Given the description of an element on the screen output the (x, y) to click on. 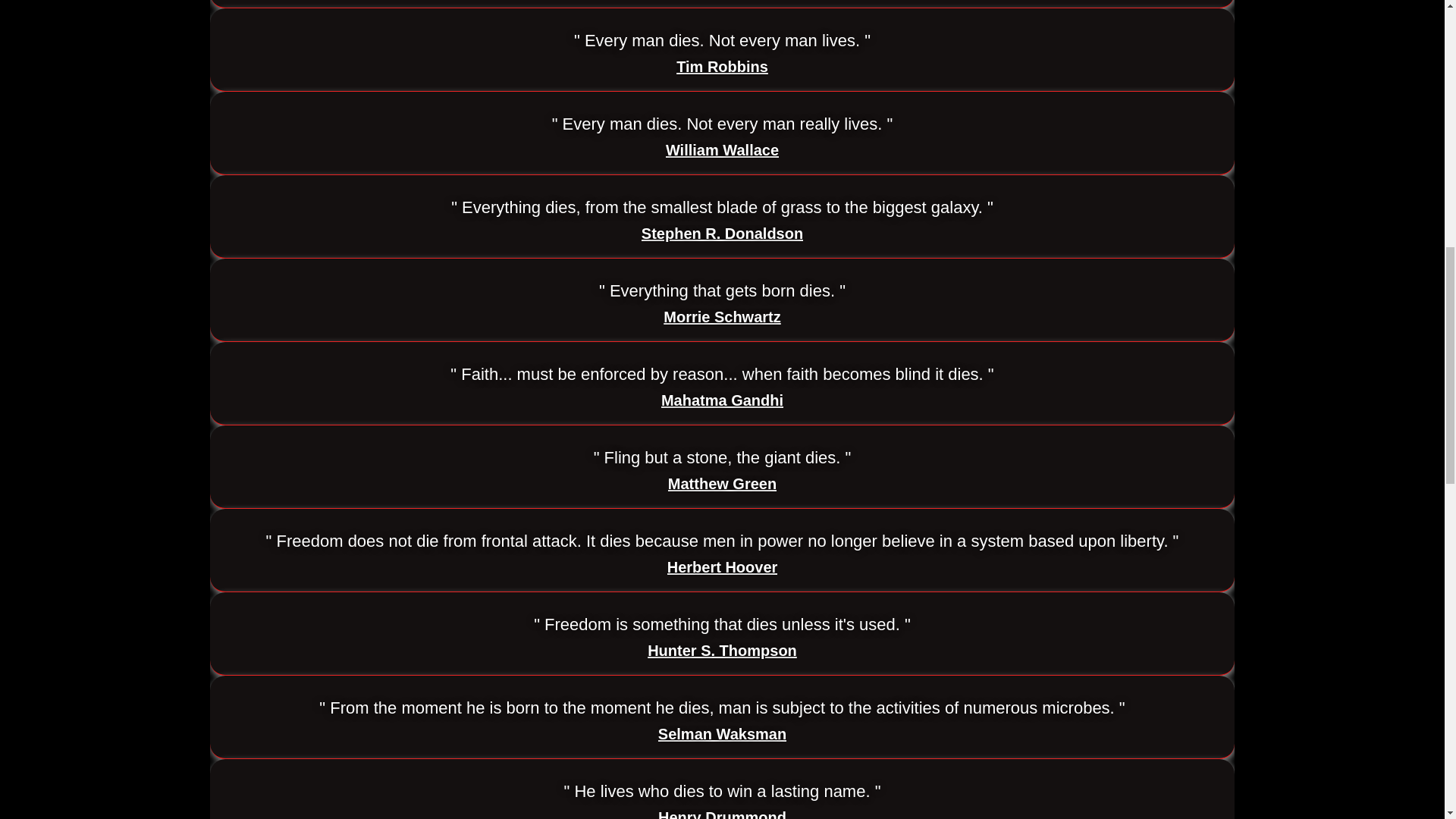
Morrie Schwartz (721, 316)
" Every man dies. Not every man really lives. " (722, 124)
Mahatma Gandhi (722, 400)
Matthew Green (722, 484)
" Freedom is something that dies unless it's used. " (722, 624)
Selman Waksman (722, 733)
William Wallace (721, 149)
" Every man dies. Not every man lives. " (721, 40)
" Everything that gets born dies. " (721, 291)
